Given the description of an element on the screen output the (x, y) to click on. 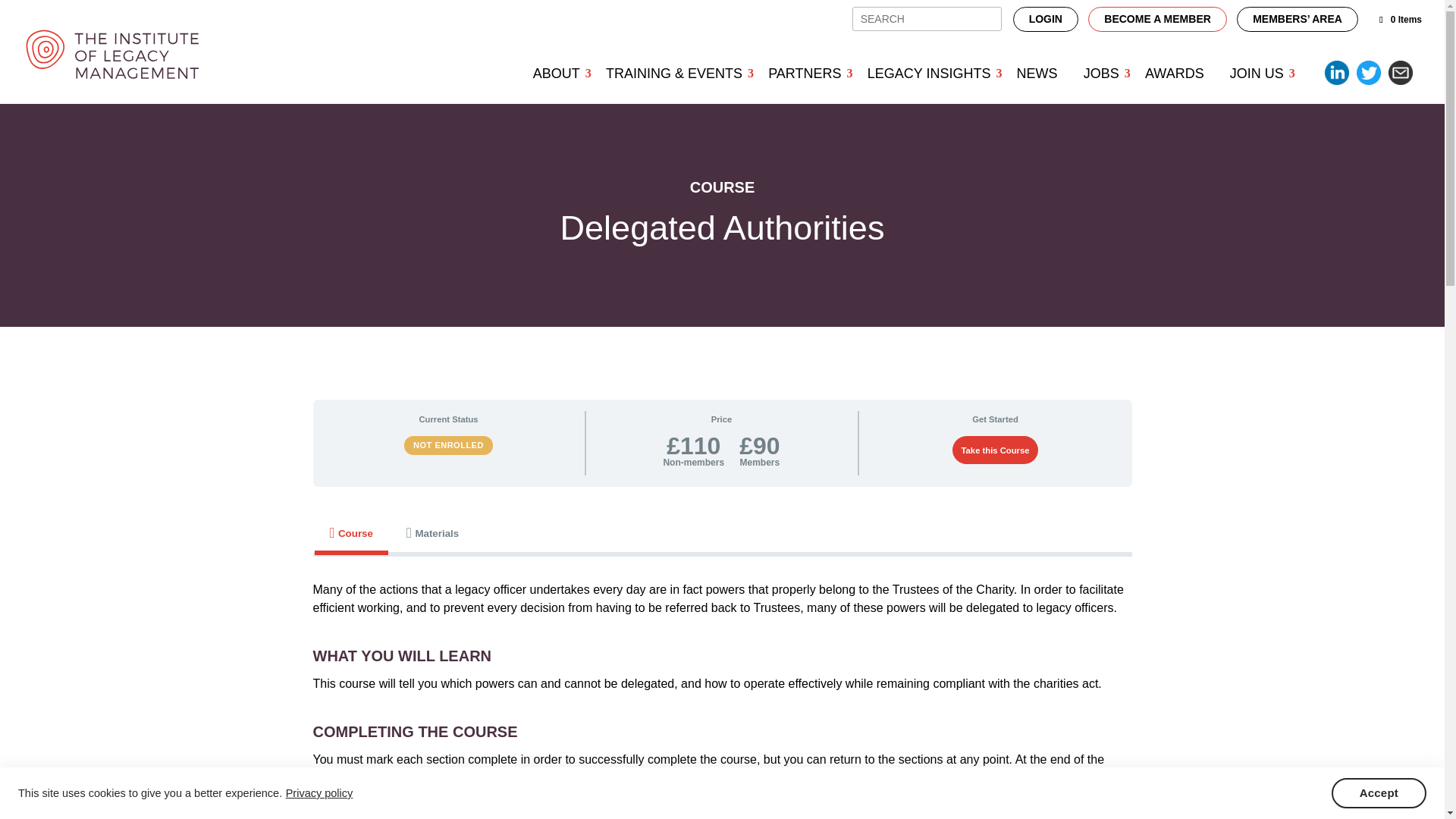
LEGACY INSIGHTS (929, 72)
NEWS (1037, 72)
JOIN US (1256, 72)
JOBS (1101, 72)
AWARDS (1174, 72)
BECOME A MEMBER (1157, 19)
0 Items (1399, 19)
LOGIN (1045, 19)
PARTNERS (804, 72)
ABOUT (556, 72)
